Given the description of an element on the screen output the (x, y) to click on. 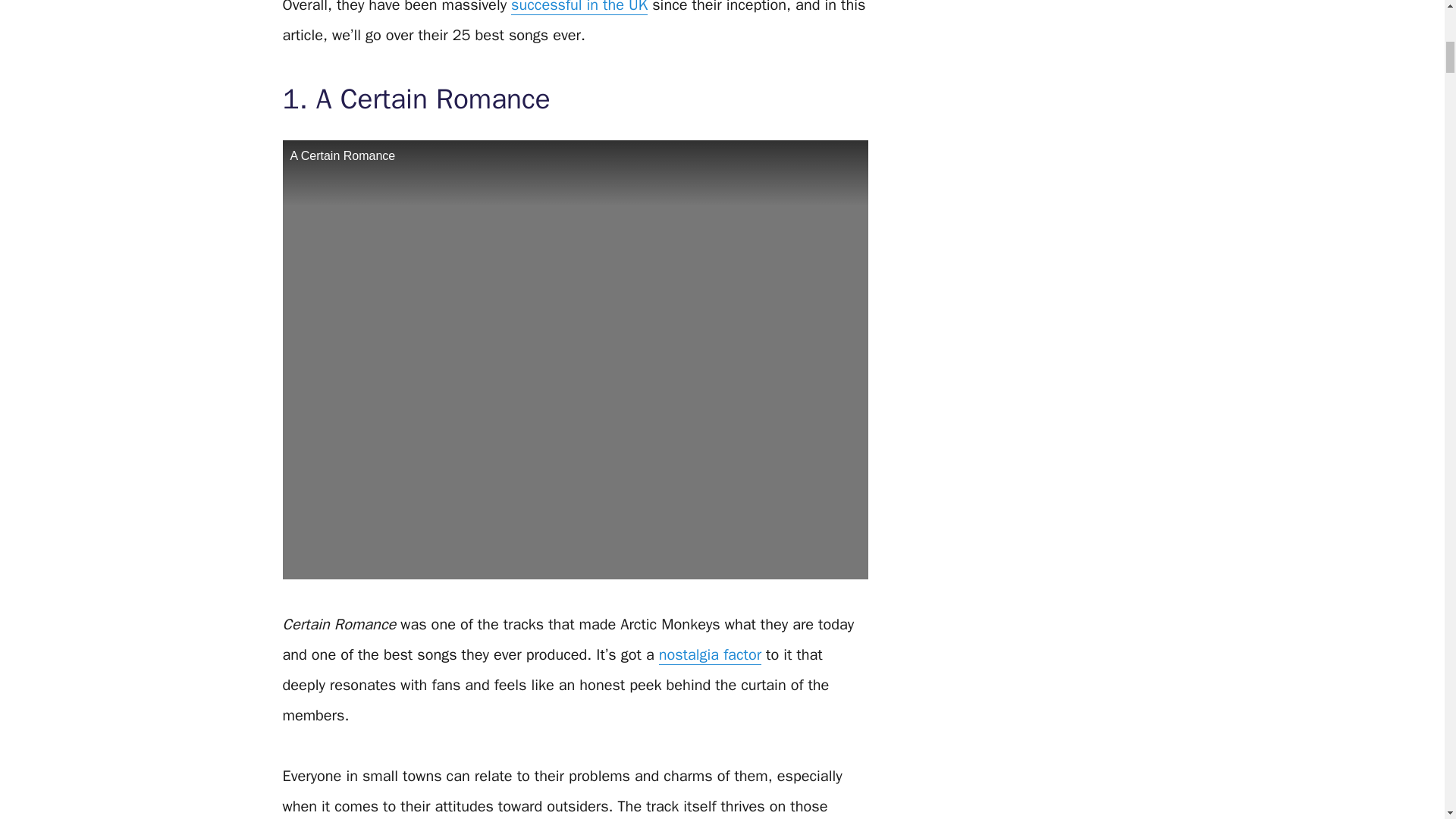
successful in the UK (579, 7)
nostalgia factor (710, 655)
